Given the description of an element on the screen output the (x, y) to click on. 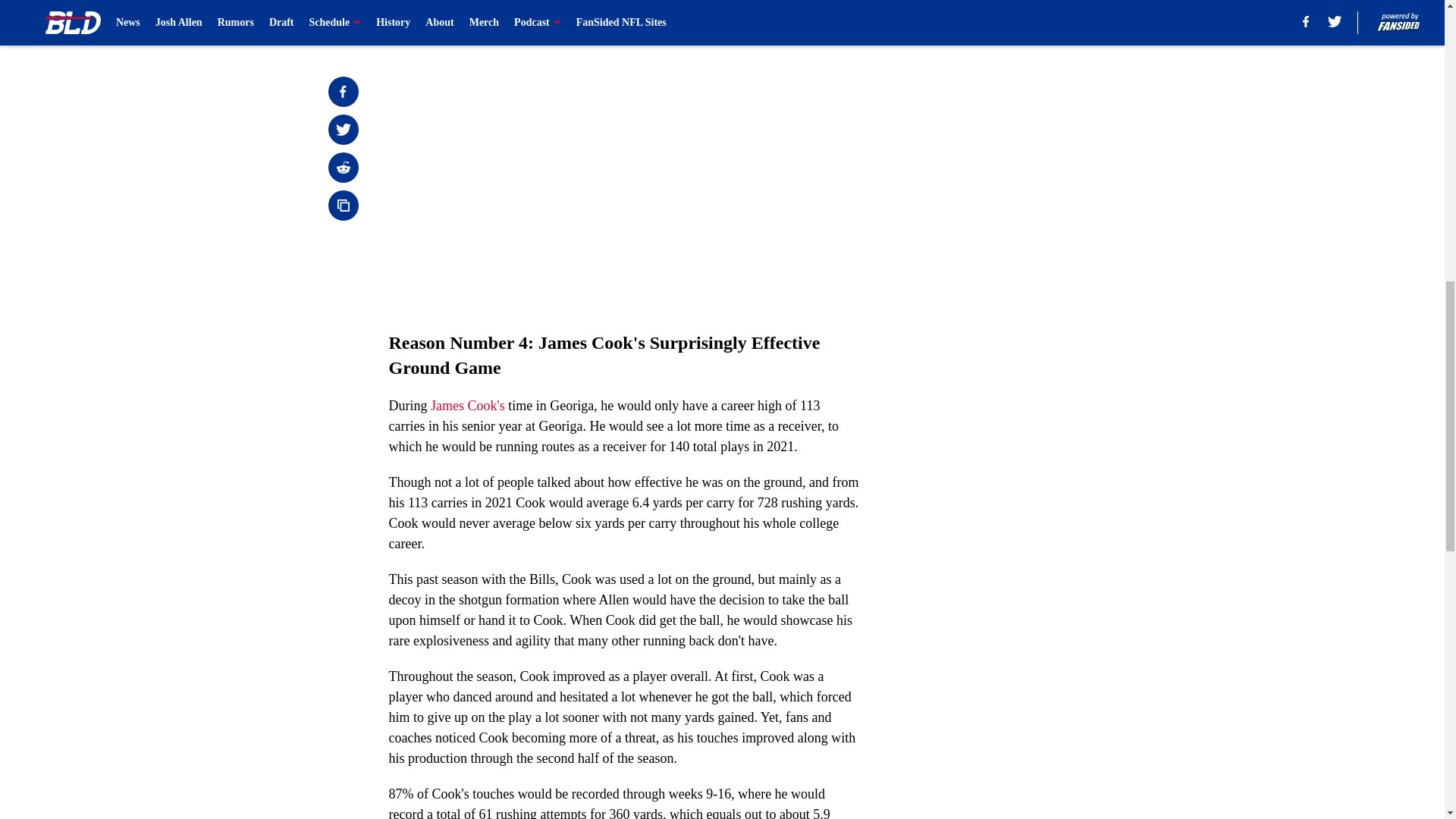
James Cook's (467, 405)
Prev (433, 20)
Next (813, 20)
